Given the description of an element on the screen output the (x, y) to click on. 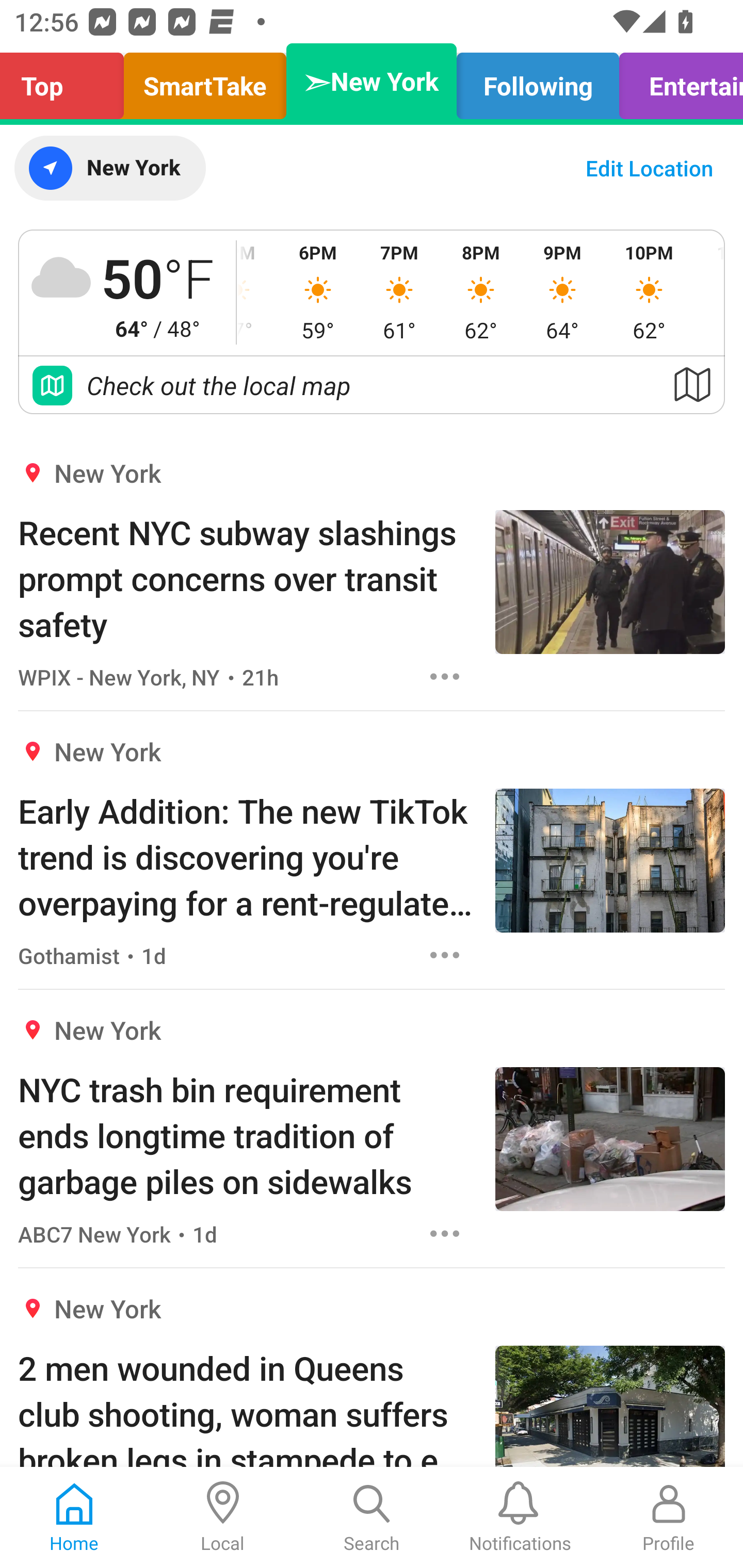
Top (67, 81)
SmartTake (204, 81)
➣New York (371, 81)
Following (537, 81)
New York (109, 168)
Edit Location (648, 168)
5PM 57° (257, 291)
6PM 59° (317, 291)
7PM 61° (398, 291)
8PM 62° (480, 291)
9PM 64° (562, 291)
10PM 62° (648, 291)
Check out the local map (371, 384)
Options (444, 676)
Options (444, 954)
Options (444, 1233)
Local (222, 1517)
Search (371, 1517)
Notifications (519, 1517)
Profile (668, 1517)
